Given the description of an element on the screen output the (x, y) to click on. 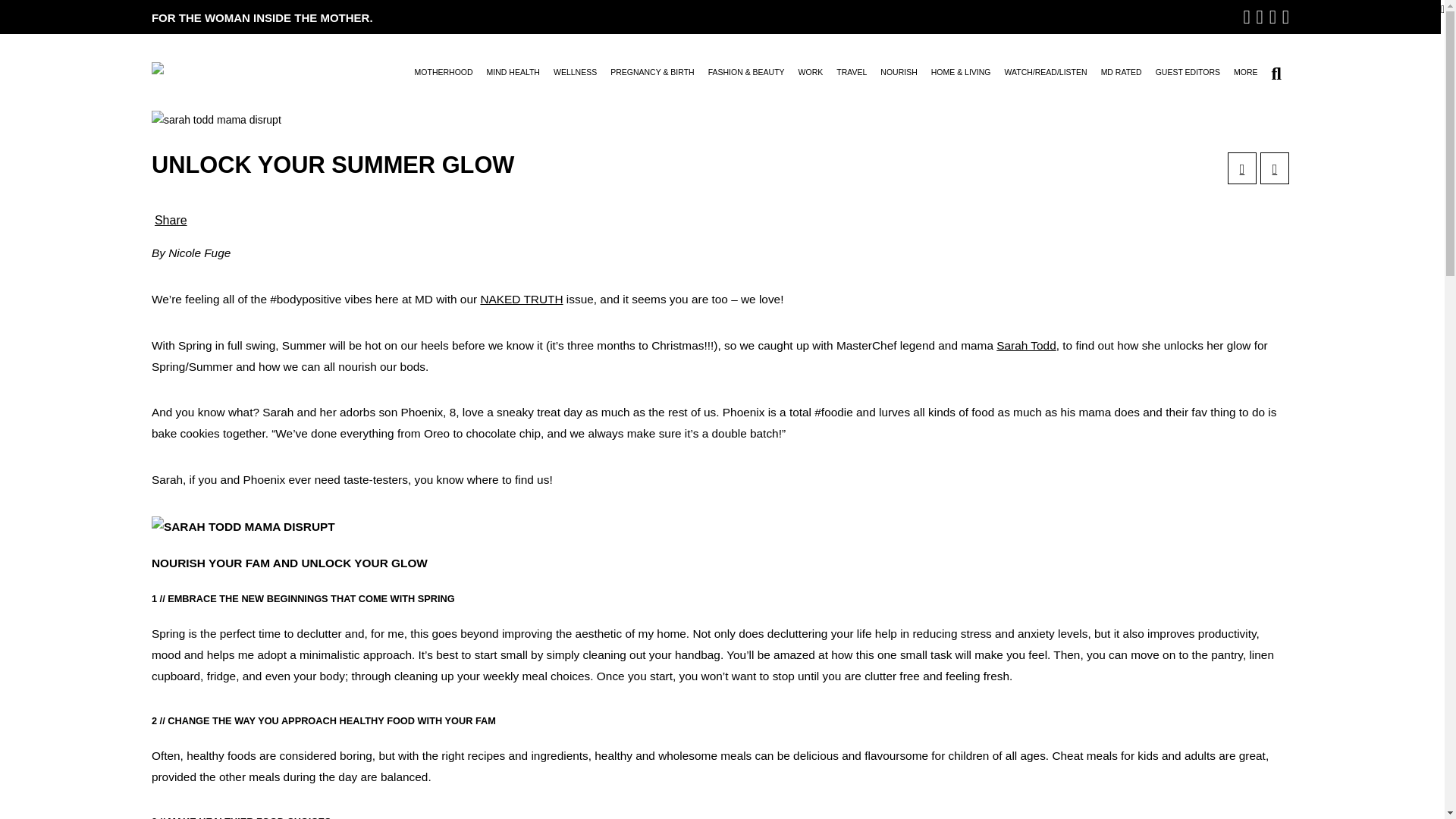
MOTHERHOOD (444, 76)
GUEST EDITORS (1187, 76)
WELLNESS (574, 76)
MIND HEALTH (513, 76)
